Given the description of an element on the screen output the (x, y) to click on. 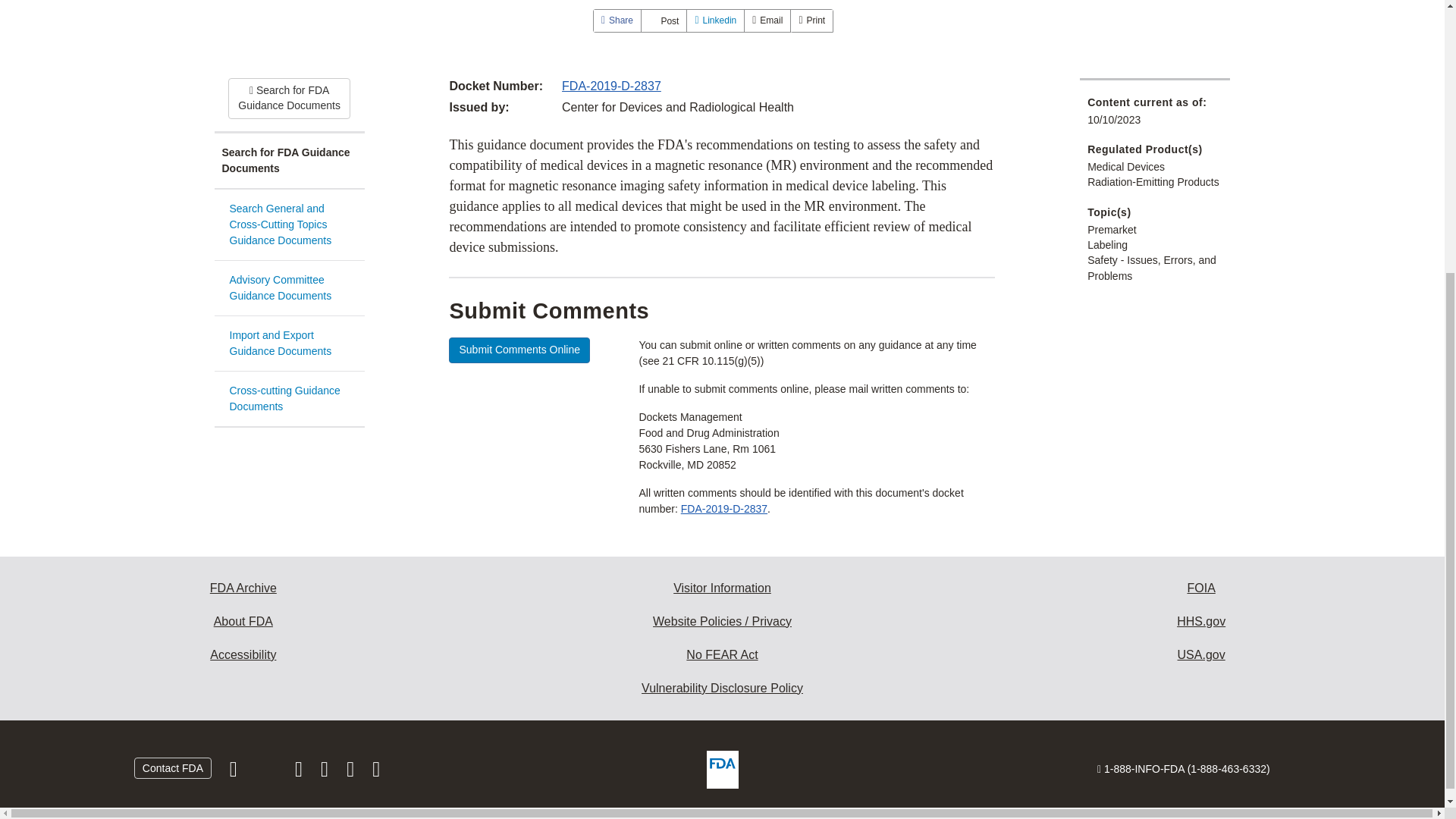
Print this page (811, 20)
Follow FDA on LinkedIn (326, 772)
Follow FDA on Instagram (299, 772)
Freedom of Information Act (1200, 588)
Health and Human Services (1200, 621)
Follow FDA on X (266, 772)
Subscribe to FDA RSS feeds (376, 772)
Search for FDA Guidance Documents (289, 161)
Follow FDA on Facebook (234, 772)
View FDA videos on YouTube (352, 772)
